Given the description of an element on the screen output the (x, y) to click on. 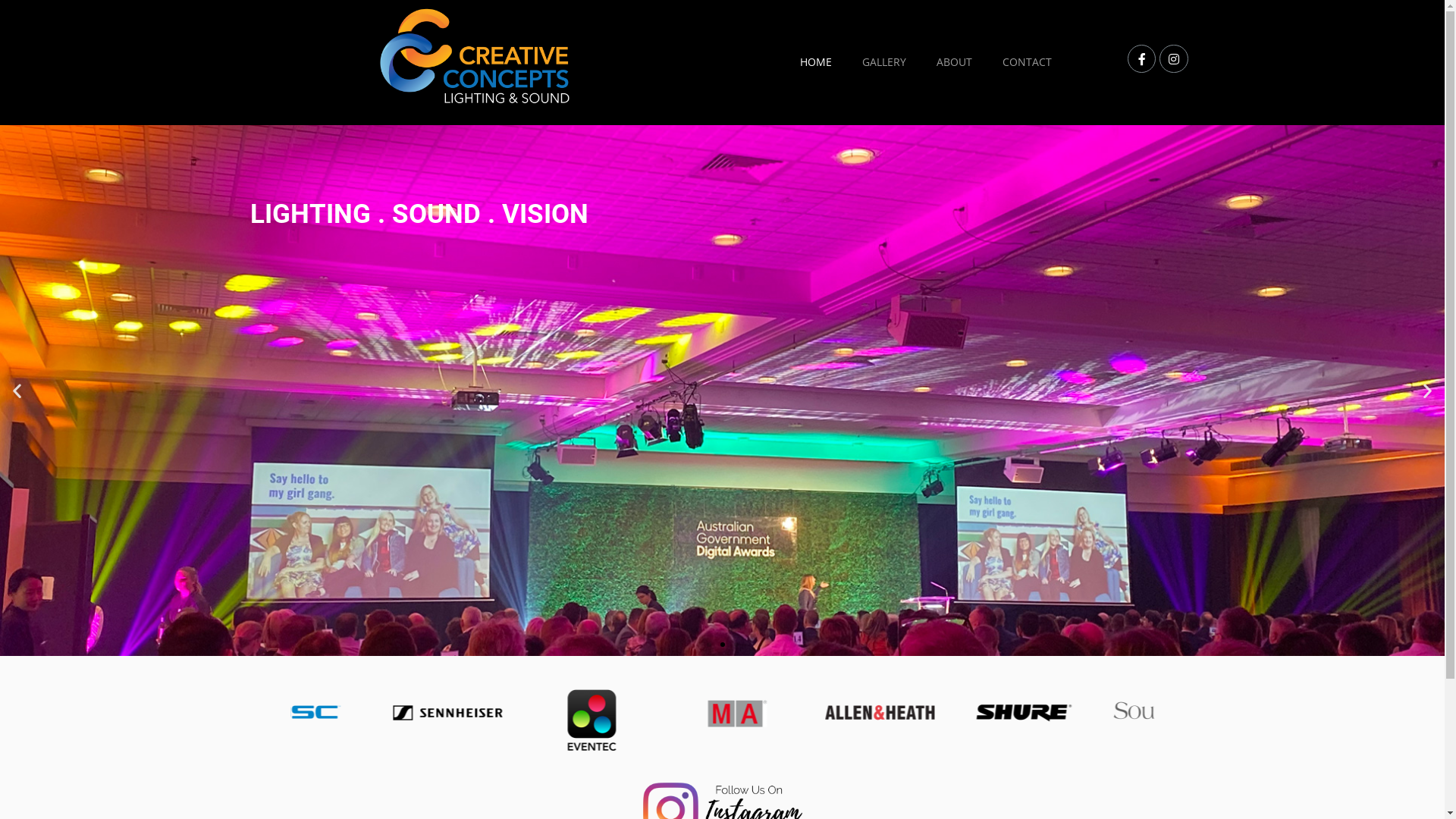
GALLERY Element type: text (884, 61)
CONTACT Element type: text (1026, 61)
ABOUT Element type: text (954, 61)
HOME Element type: text (815, 61)
